Given the description of an element on the screen output the (x, y) to click on. 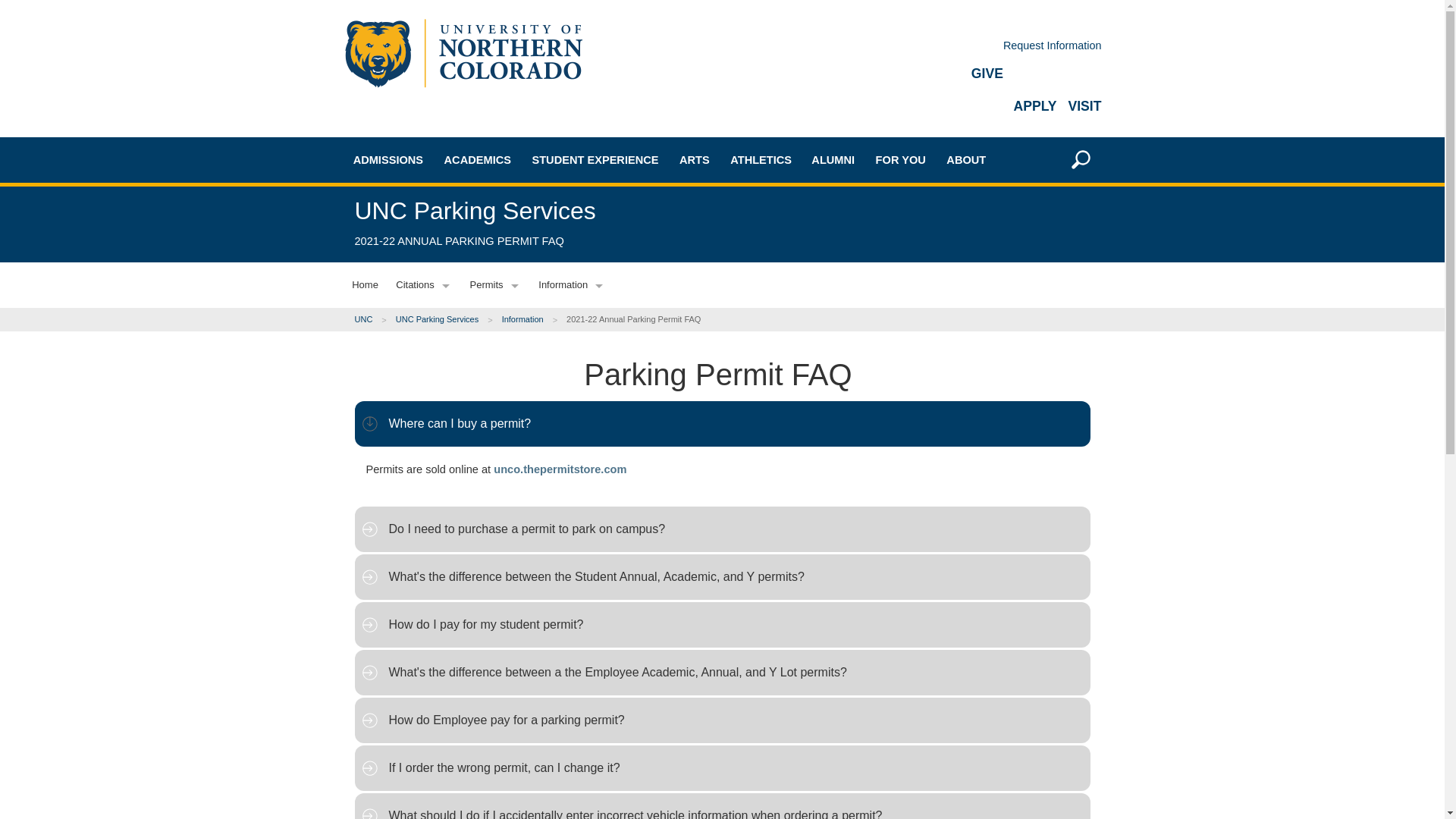
Transfer (418, 254)
Financial Aid (418, 408)
Bookstore (509, 393)
Orientation (418, 509)
Graduate Programs (509, 260)
Library (509, 446)
Request Information (1052, 45)
Extended Campus (418, 334)
Graduate (418, 281)
APPLY (1035, 105)
